Given the description of an element on the screen output the (x, y) to click on. 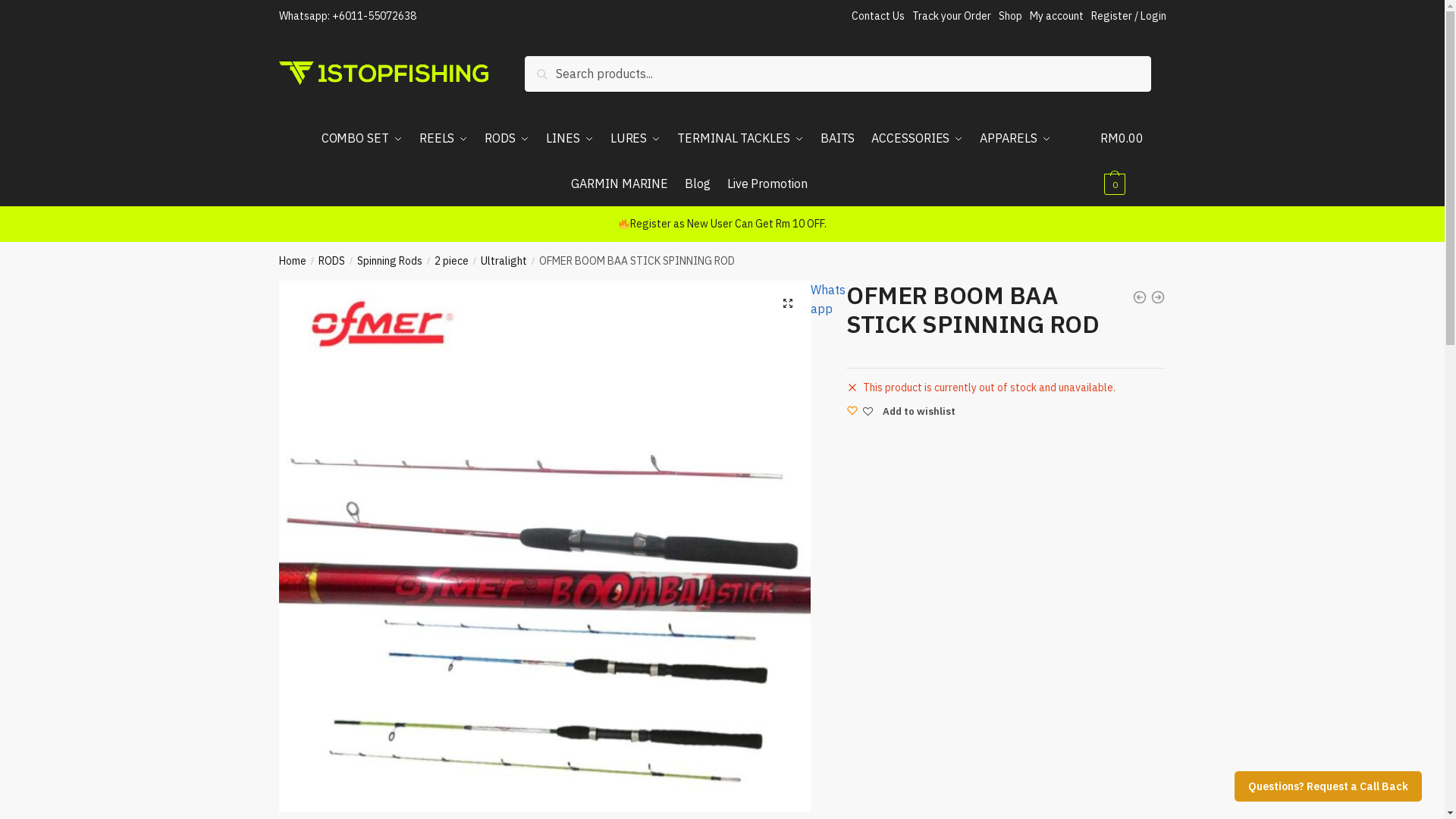
My account Element type: text (1056, 15)
Spinning Rods Element type: text (389, 260)
LINES Element type: text (569, 137)
Track your Order Element type: text (950, 15)
RODS Element type: text (507, 137)
LURES Element type: text (635, 137)
RODS Element type: text (331, 260)
Home Element type: text (292, 260)
Shop Element type: text (1009, 15)
Whatsapp Element type: text (827, 299)
BAITS Element type: text (837, 137)
COMBO SET Element type: text (365, 137)
TERMINAL TACKLES Element type: text (740, 137)
Questions? Request a Call Back Element type: text (1327, 786)
ofmer-boom-baa-stick Element type: hover (545, 546)
ACCESSORIES Element type: text (917, 137)
APPARELS Element type: text (1015, 137)
Ultralight Element type: text (503, 260)
GARMIN MARINE Element type: text (619, 183)
Skip to navigation Element type: text (48, 9)
Register / Login Element type: text (1127, 15)
RM0.00 0 Element type: text (1132, 160)
REELS Element type: text (443, 137)
Add to wishlist Element type: text (900, 410)
Live Promotion Element type: text (766, 183)
Search Element type: text (547, 66)
Skip to content Element type: text (41, 9)
Blog Element type: text (696, 183)
Contact Us Element type: text (876, 15)
2 piece Element type: text (451, 260)
